Given the description of an element on the screen output the (x, y) to click on. 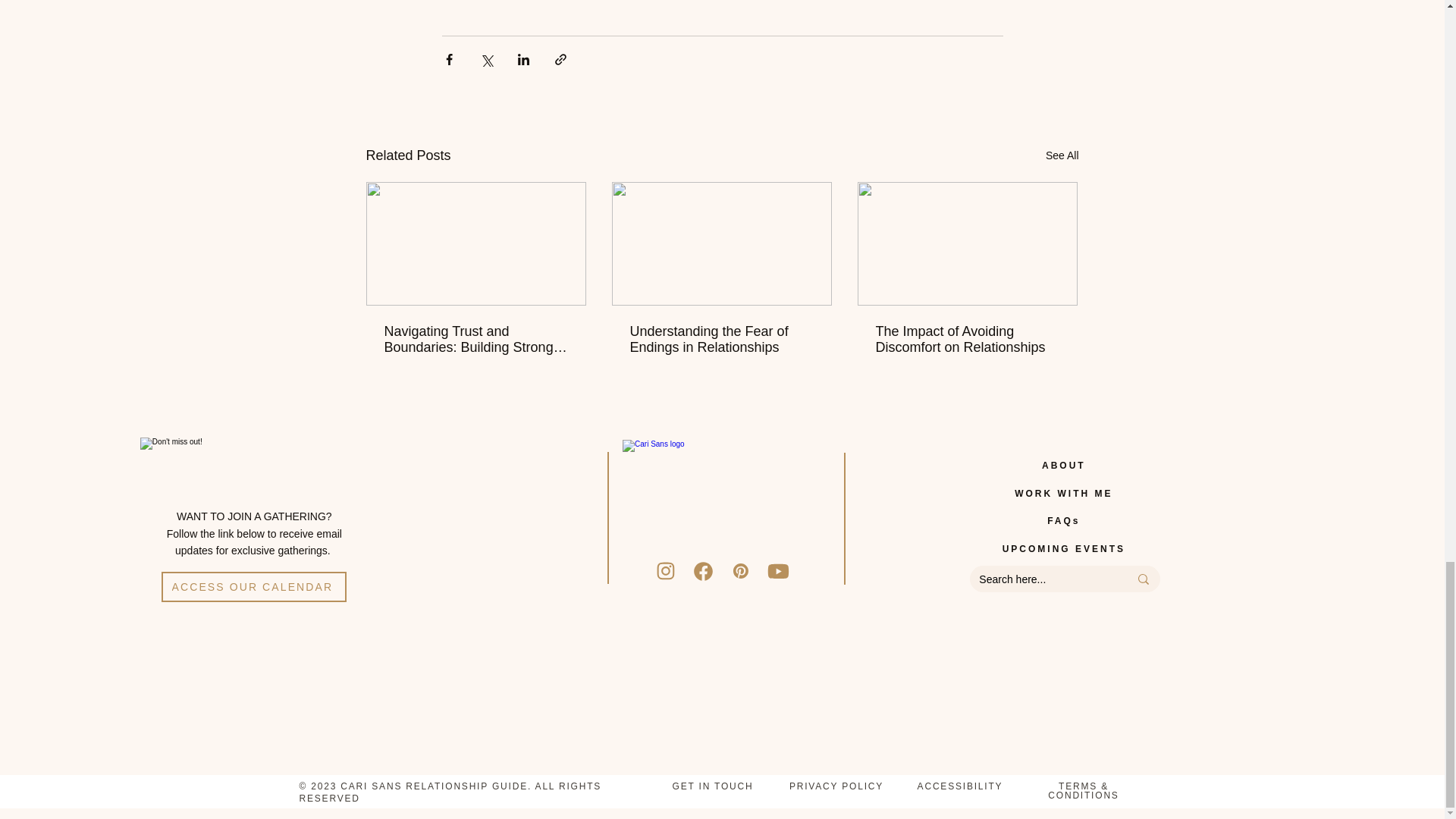
Navigate to Cari Sans Home  (722, 498)
The Impact of Avoiding Discomfort on Relationships (966, 339)
See All (1061, 155)
Understanding the Fear of Endings in Relationships (720, 339)
ACCESS OUR CALENDAR (253, 586)
